Given the description of an element on the screen output the (x, y) to click on. 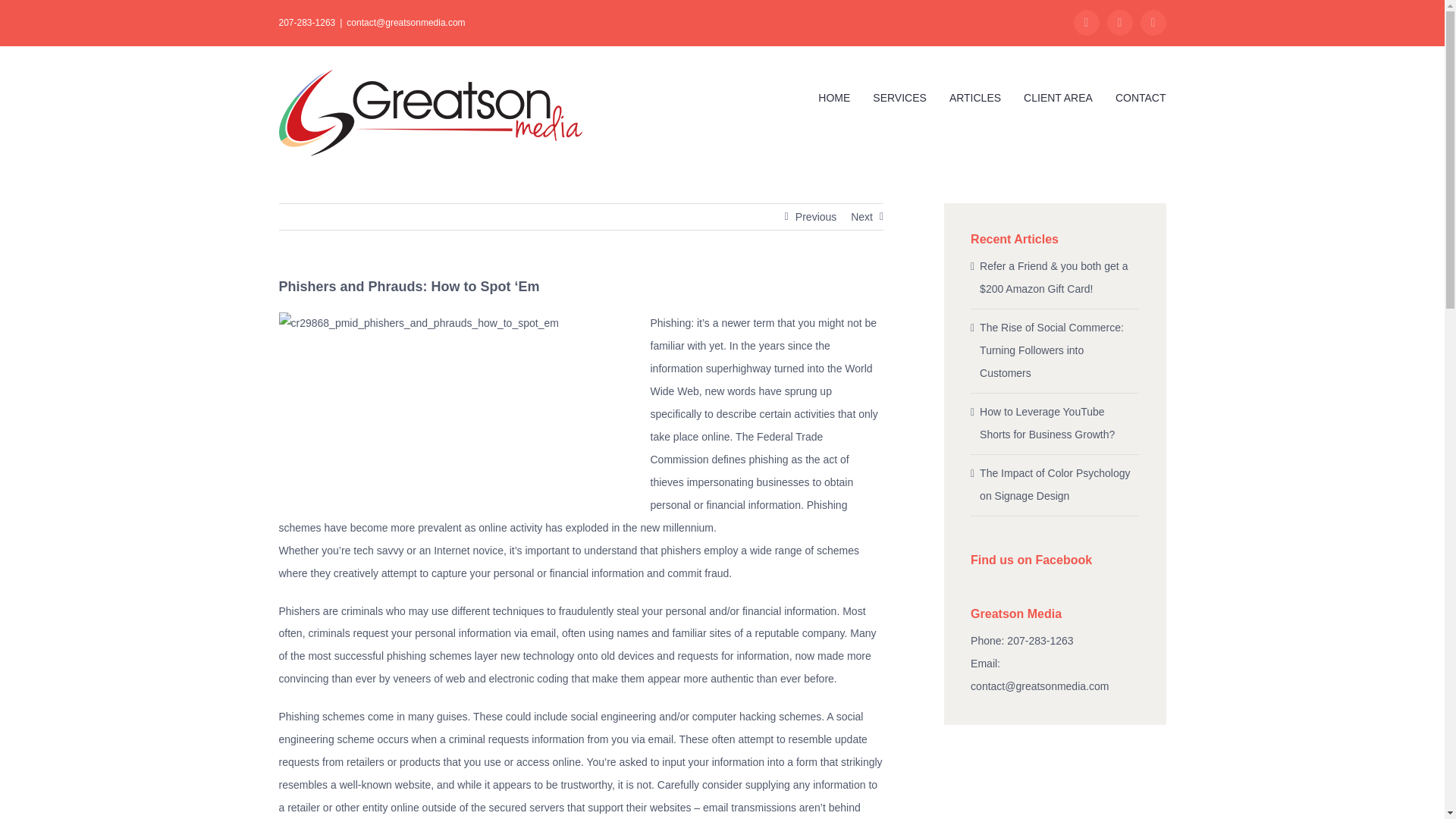
X (1153, 22)
Accessibility Tools (19, 95)
Accessibility Tools (19, 95)
Instagram (1119, 22)
207-283-1263 (307, 22)
Facebook (19, 95)
